Given the description of an element on the screen output the (x, y) to click on. 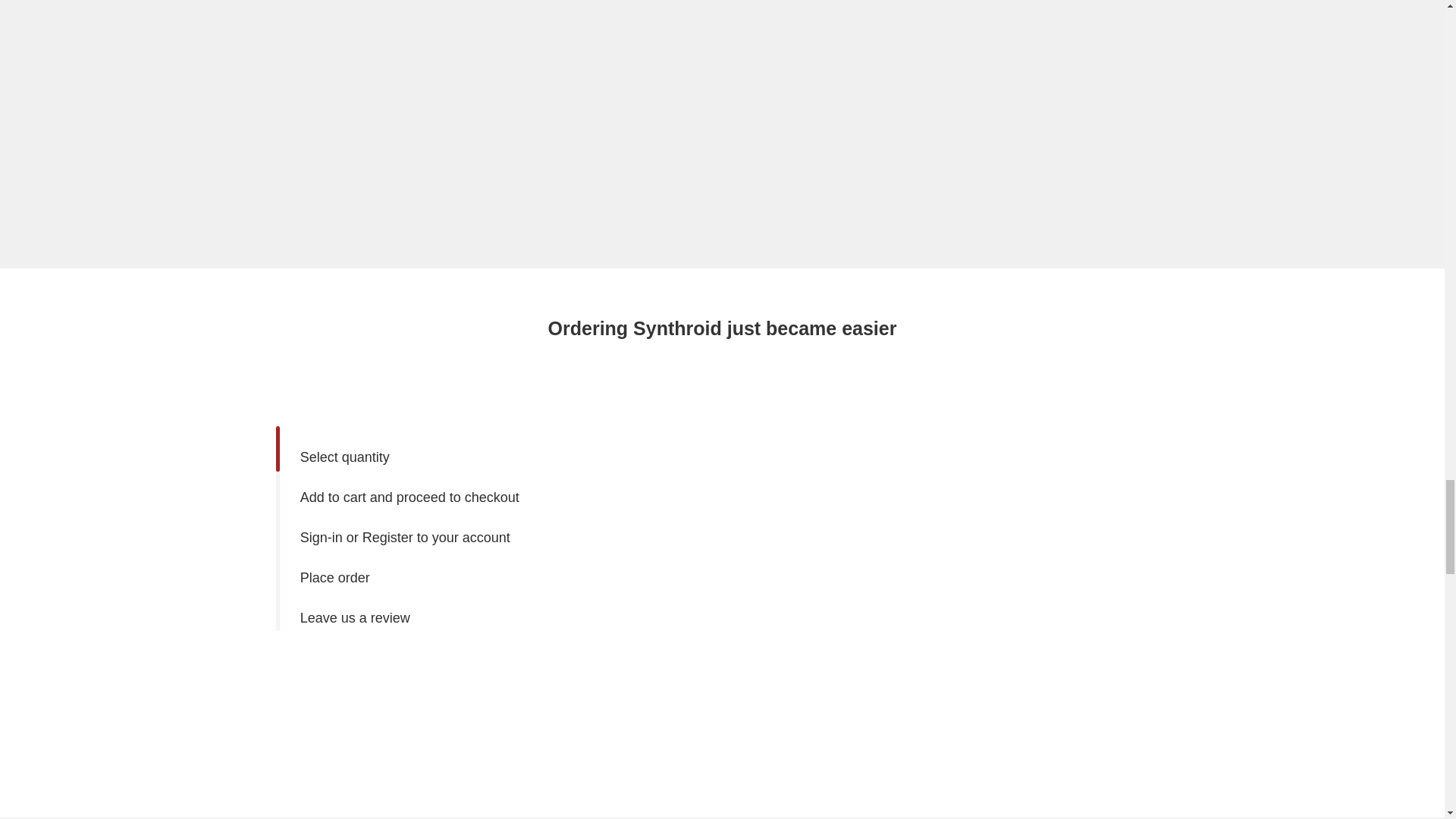
Reviews (1187, 145)
